Given the description of an element on the screen output the (x, y) to click on. 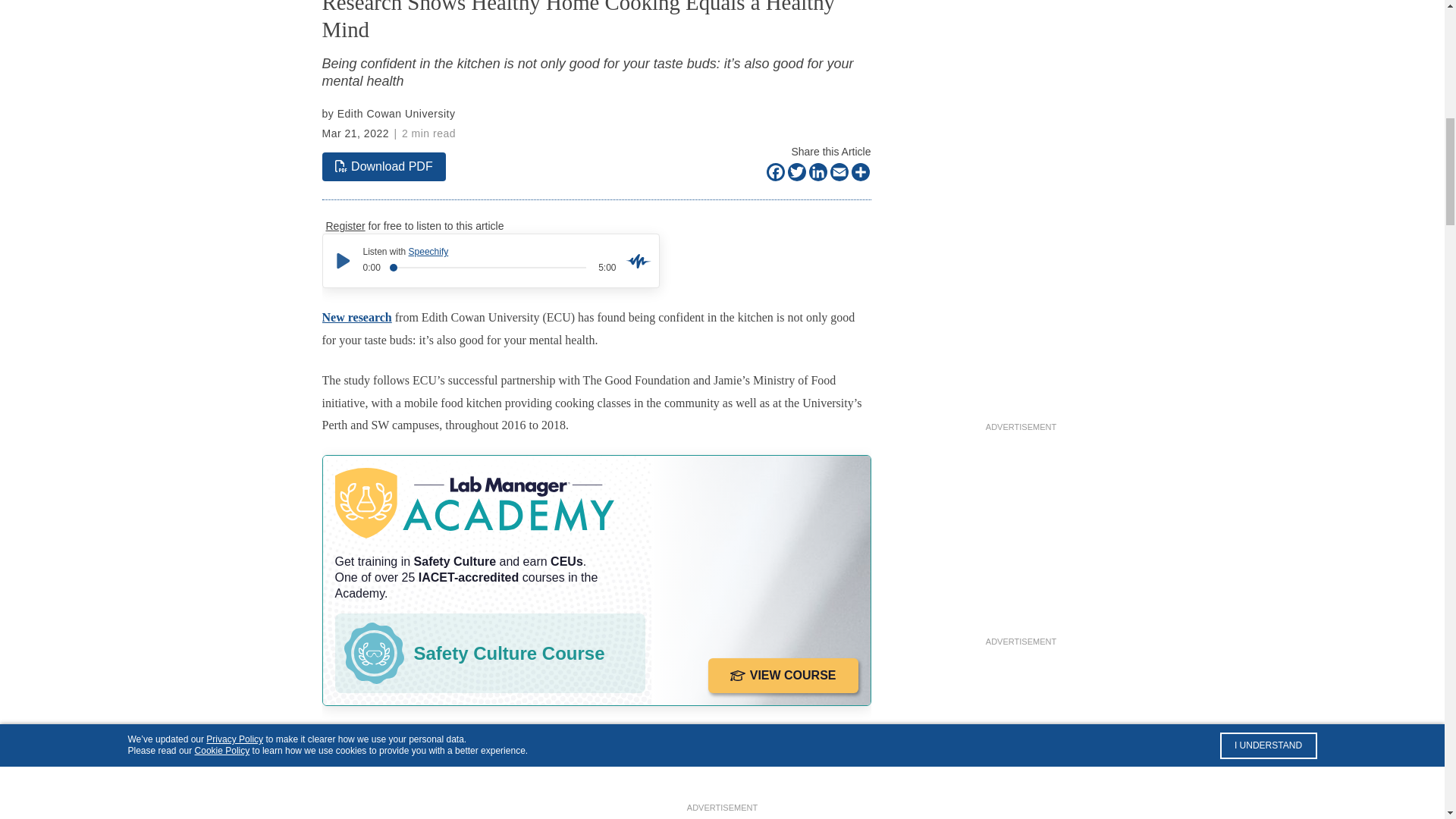
3rd party ad content (1020, 538)
3rd party ad content (1020, 33)
